Given the description of an element on the screen output the (x, y) to click on. 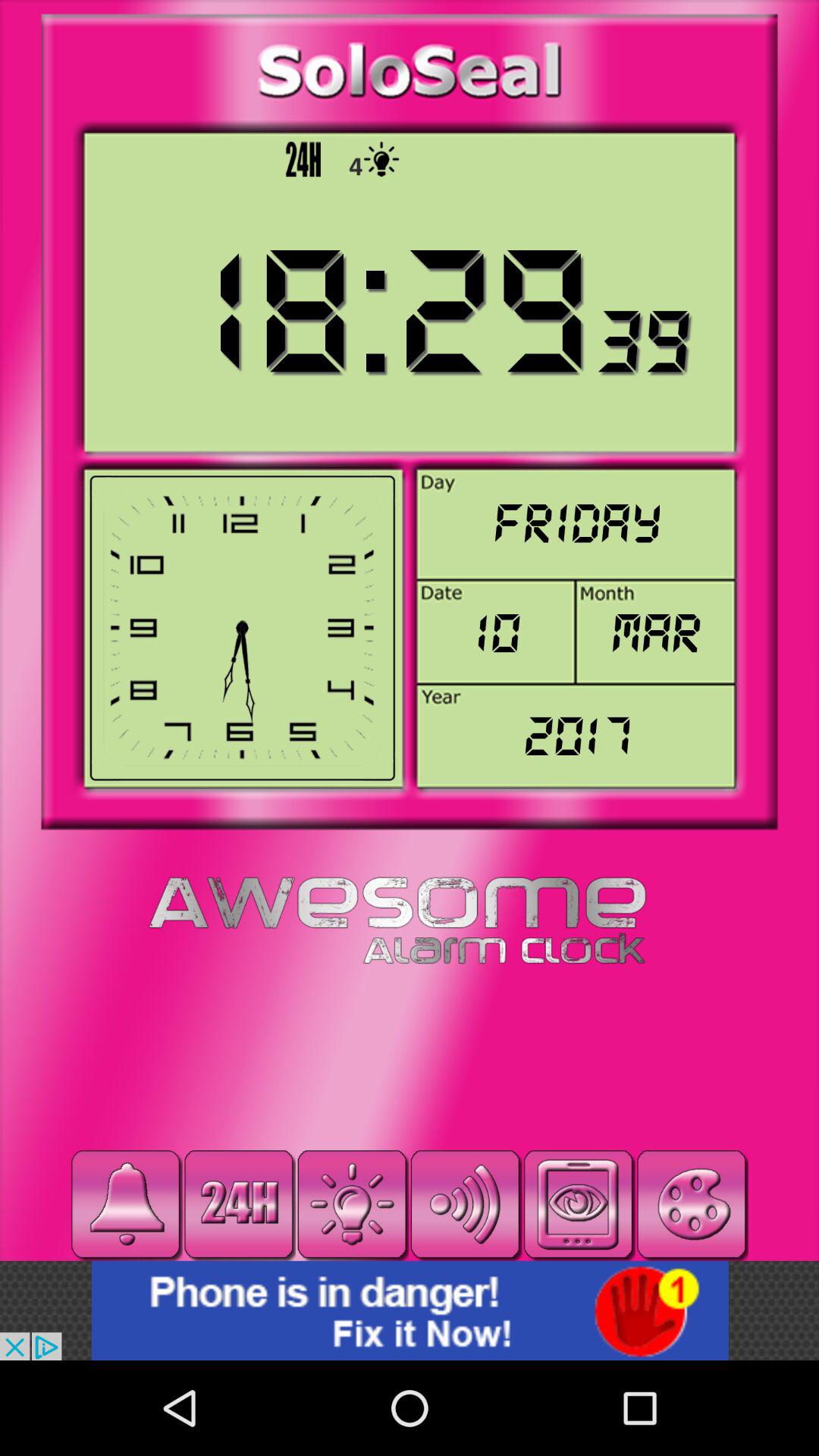
play pause (578, 1203)
